Given the description of an element on the screen output the (x, y) to click on. 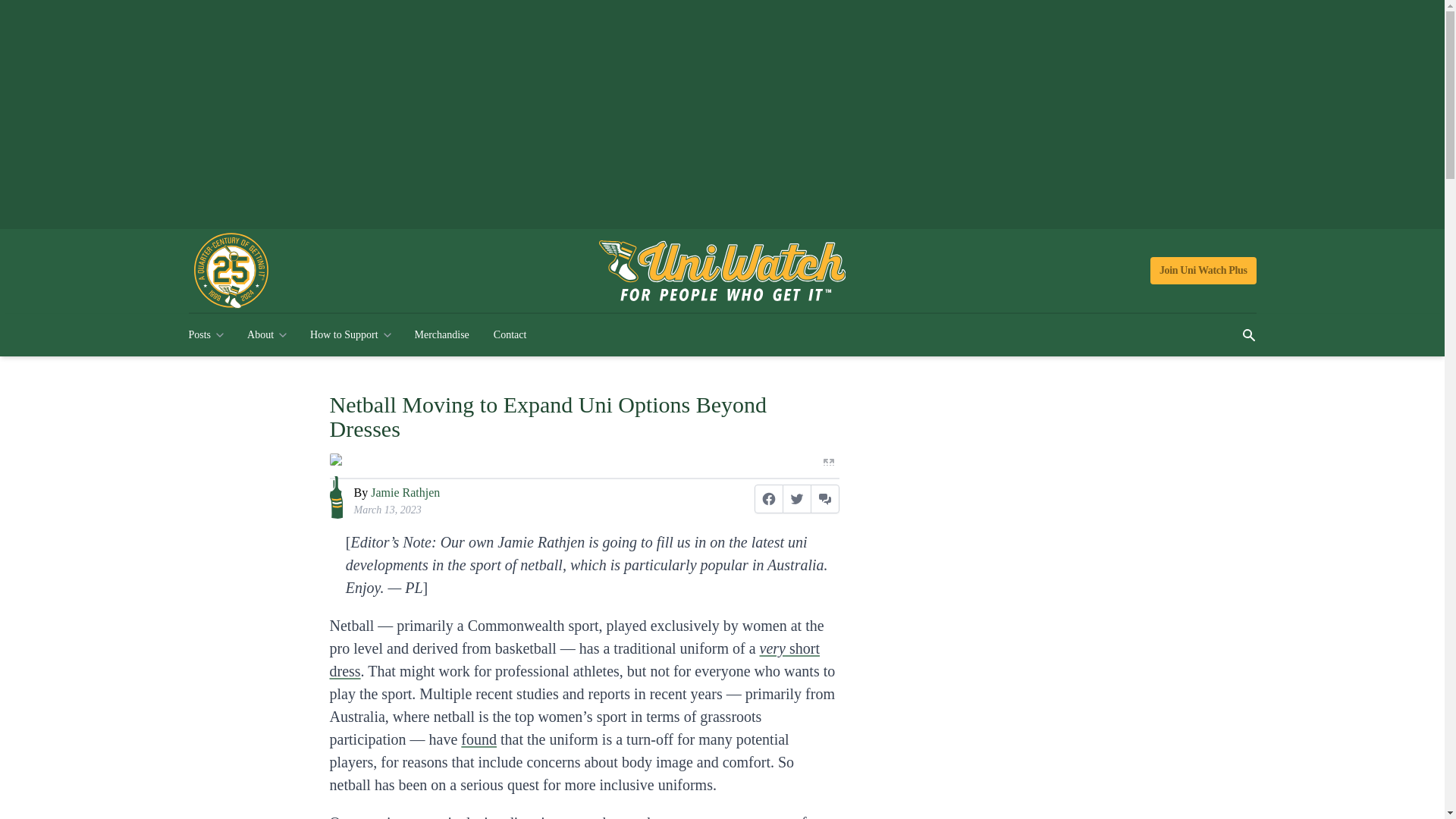
Share on Twitter (796, 498)
Join Uni Watch Plus (1203, 270)
Uni Watch (721, 270)
Uni Watch (721, 270)
Share on Facebook (768, 498)
